Given the description of an element on the screen output the (x, y) to click on. 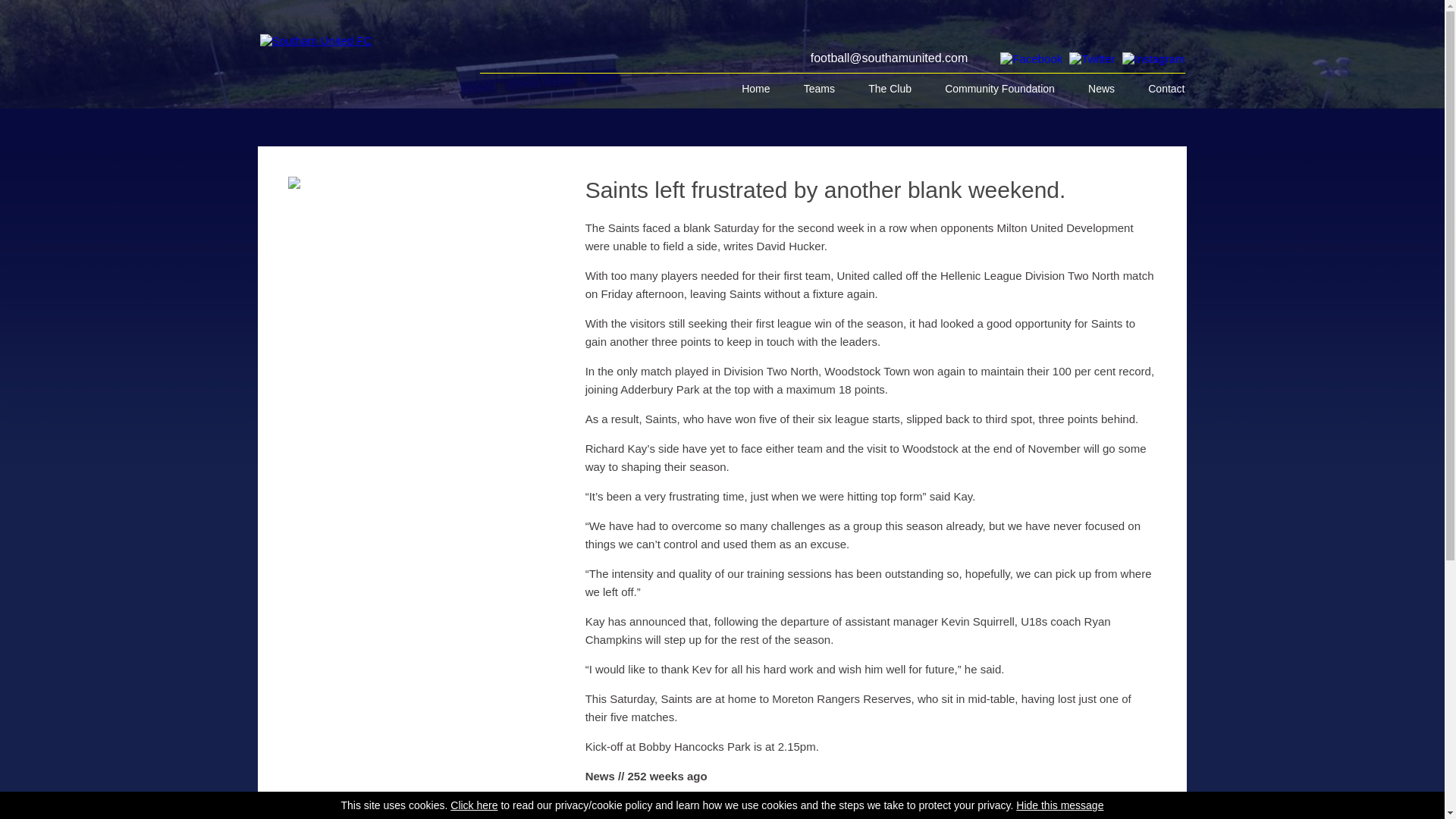
Hide this message (1059, 805)
The Club (889, 88)
Community Foundation (1000, 88)
News (1101, 88)
Click here (473, 805)
Teams (819, 88)
Contact (1158, 88)
Home (755, 88)
